Given the description of an element on the screen output the (x, y) to click on. 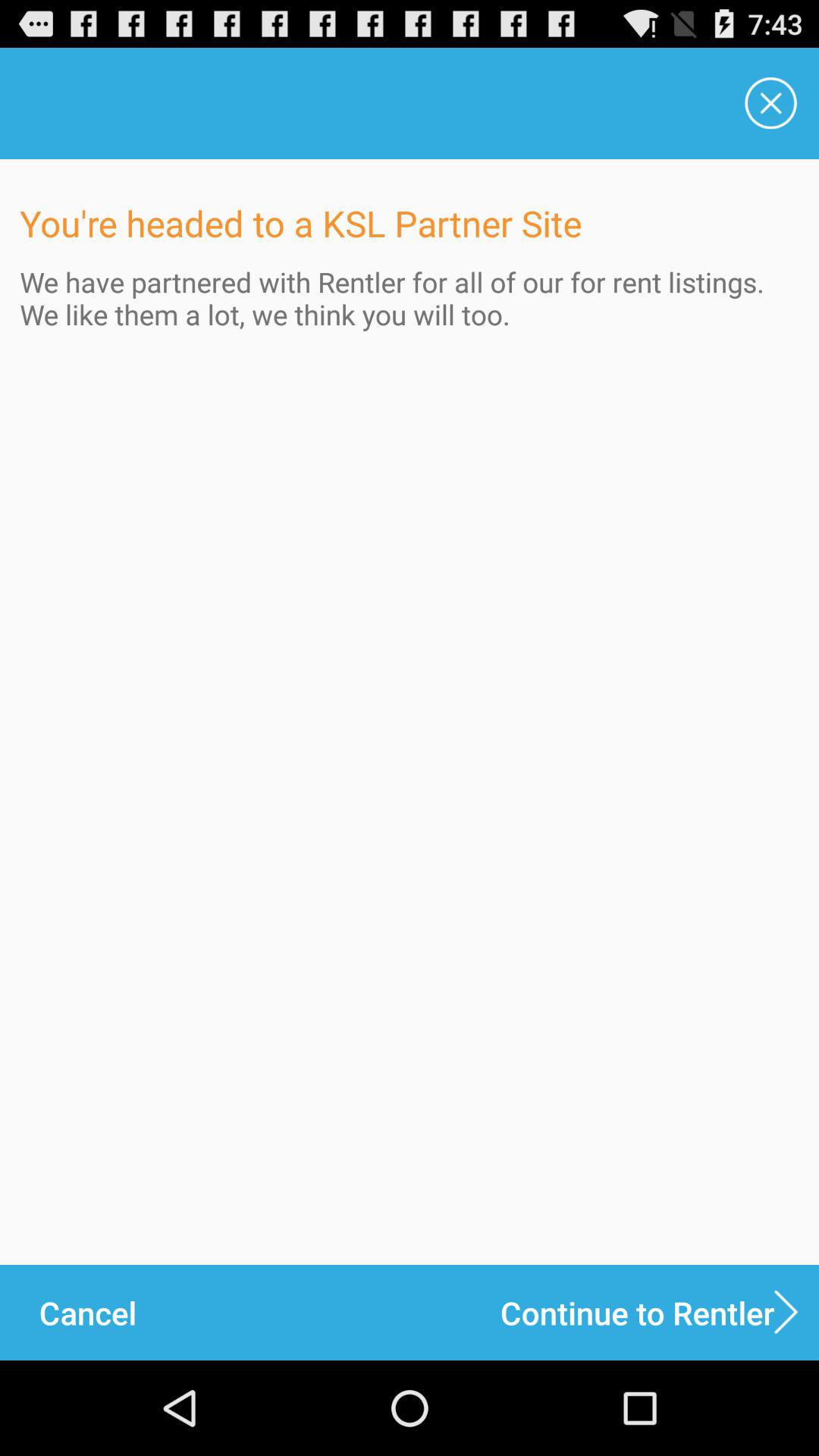
select the icon next to the continue to rentler (87, 1312)
